Given the description of an element on the screen output the (x, y) to click on. 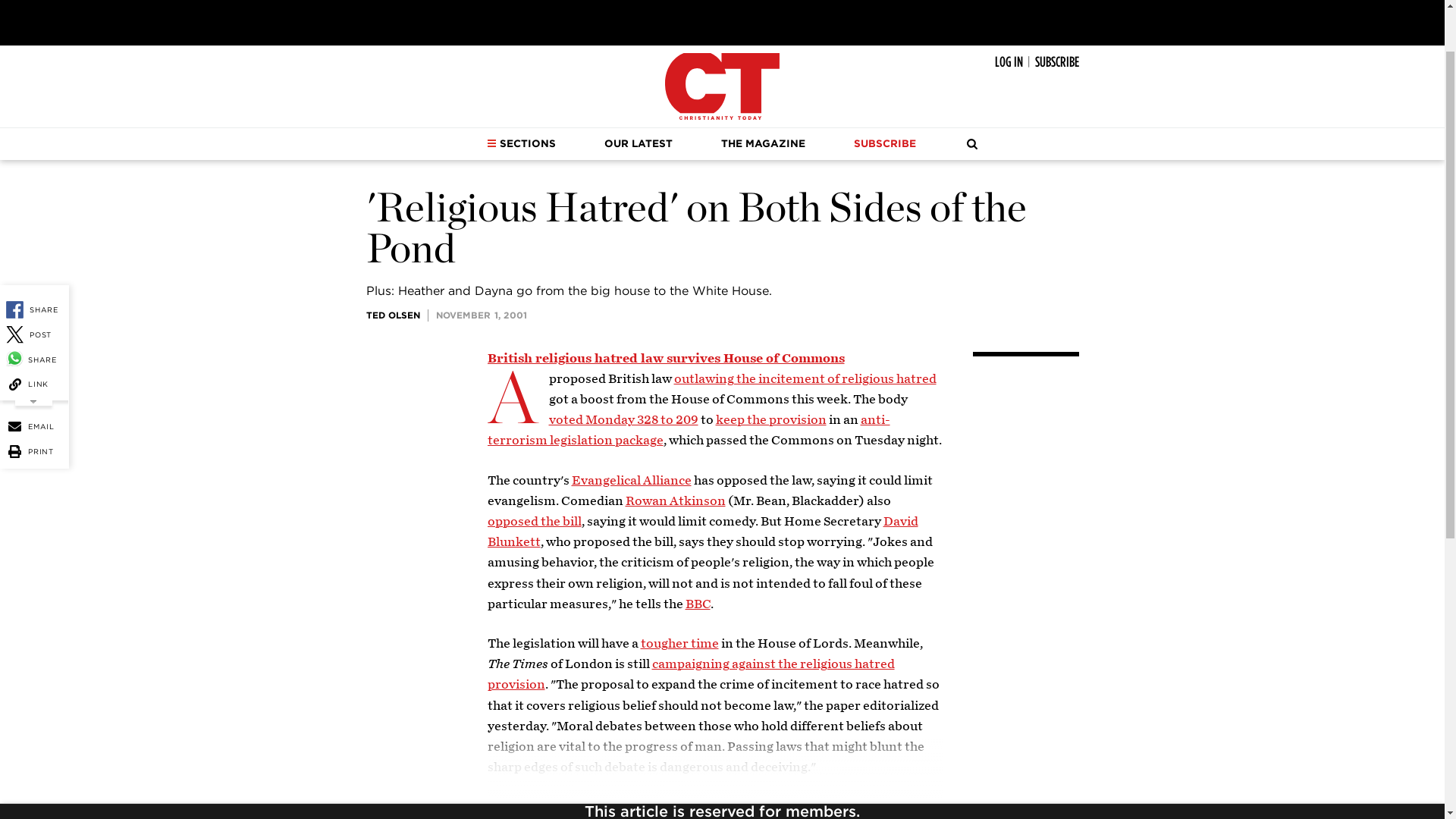
Christianity Today (721, 86)
Sections Dropdown (491, 143)
LOG IN (1008, 62)
SECTIONS (521, 143)
SUBSCRIBE (1055, 62)
3rd party ad content (721, 18)
